Given the description of an element on the screen output the (x, y) to click on. 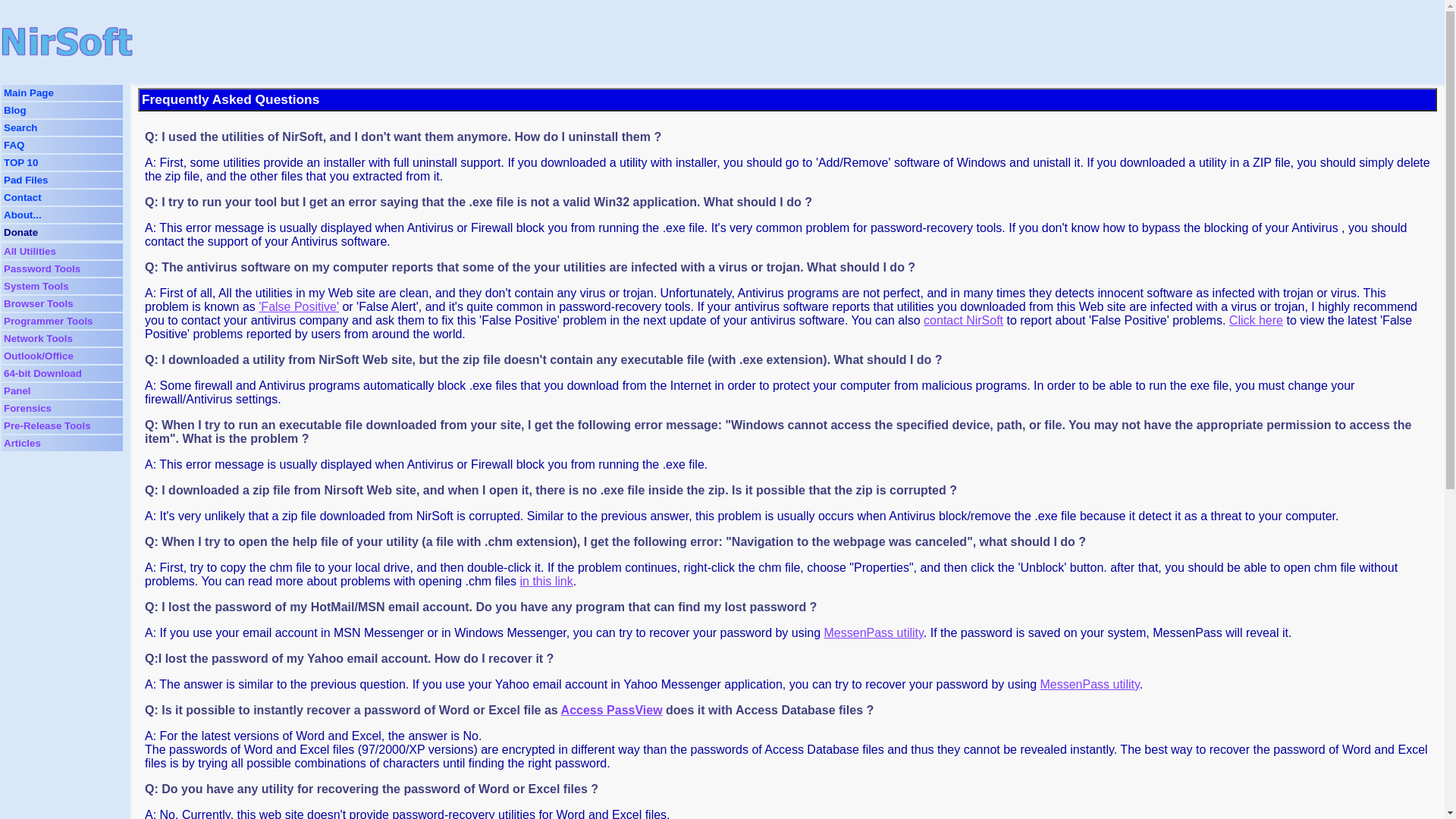
64-bit Download (42, 373)
'False Positive' (299, 306)
Access PassView (611, 709)
in this link (546, 581)
Forensics (27, 408)
Advertisement (556, 41)
Pad Files (26, 179)
Donate (20, 232)
Programmer Tools (48, 320)
Main Page (28, 92)
FAQ (14, 144)
Password Tools (42, 268)
Browser Tools (39, 303)
MessenPass utility (1088, 684)
System Tools (36, 285)
